Given the description of an element on the screen output the (x, y) to click on. 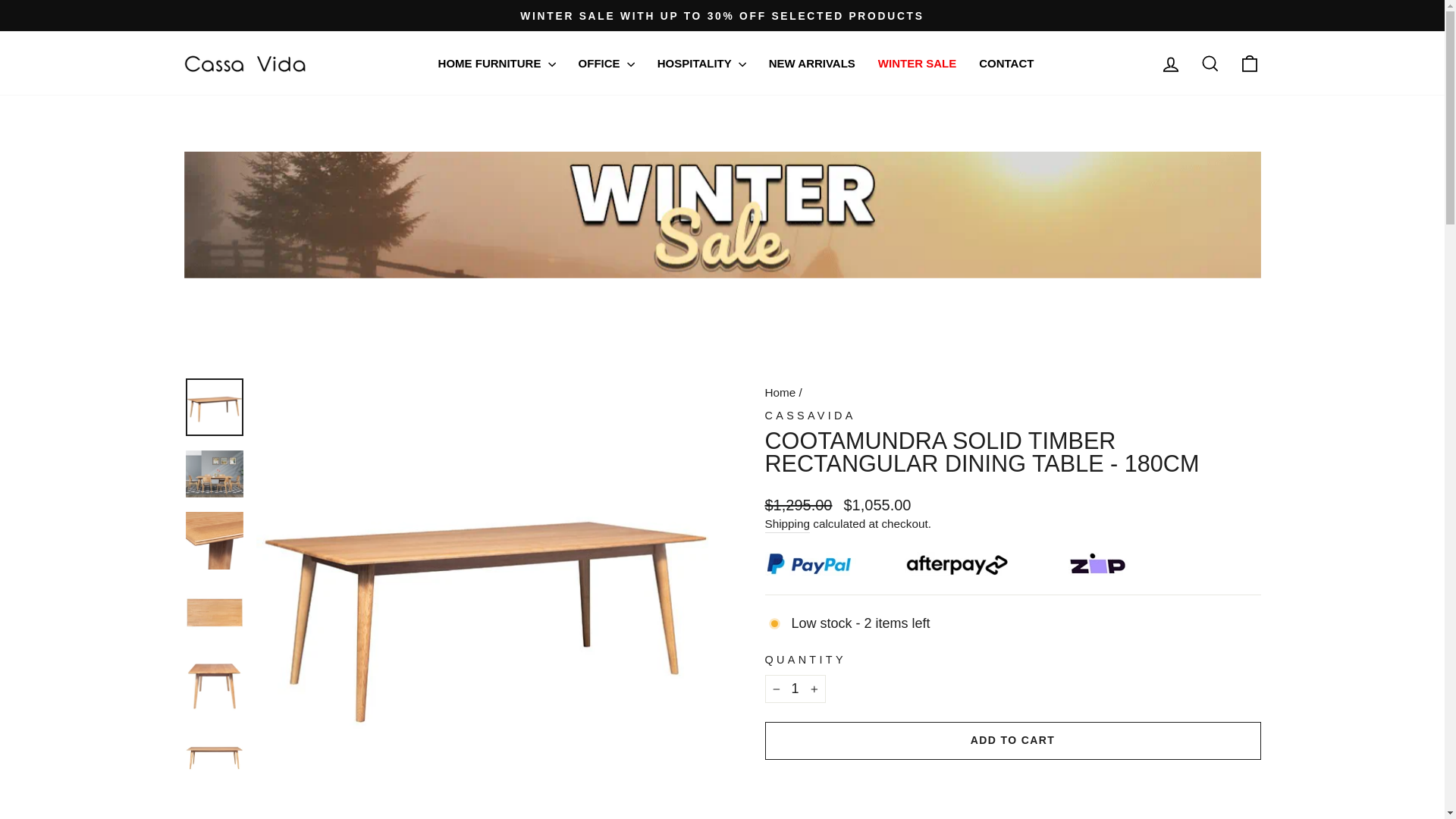
ICON-BAG-MINIMAL (1249, 63)
Back to the frontpage (779, 391)
1 (794, 688)
CassaVida (810, 415)
ACCOUNT (1170, 64)
ICON-SEARCH (1210, 63)
